Given the description of an element on the screen output the (x, y) to click on. 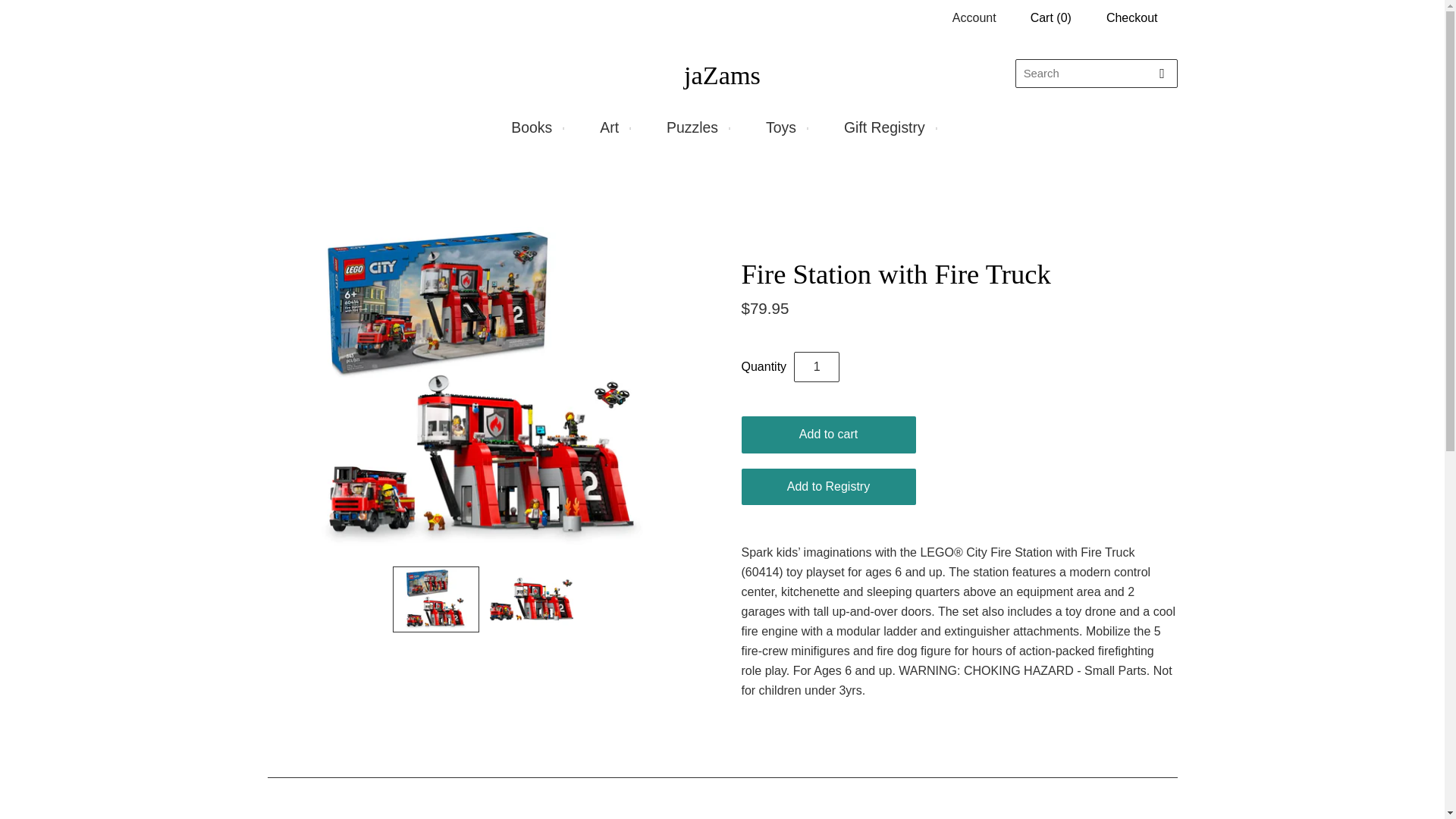
Add to cart (828, 434)
Checkout (1131, 17)
Art (612, 127)
Add to Registry (828, 486)
jaZams (722, 74)
Puzzles (695, 127)
Books (535, 127)
Account (973, 17)
Toys (784, 127)
1 (816, 367)
